Given the description of an element on the screen output the (x, y) to click on. 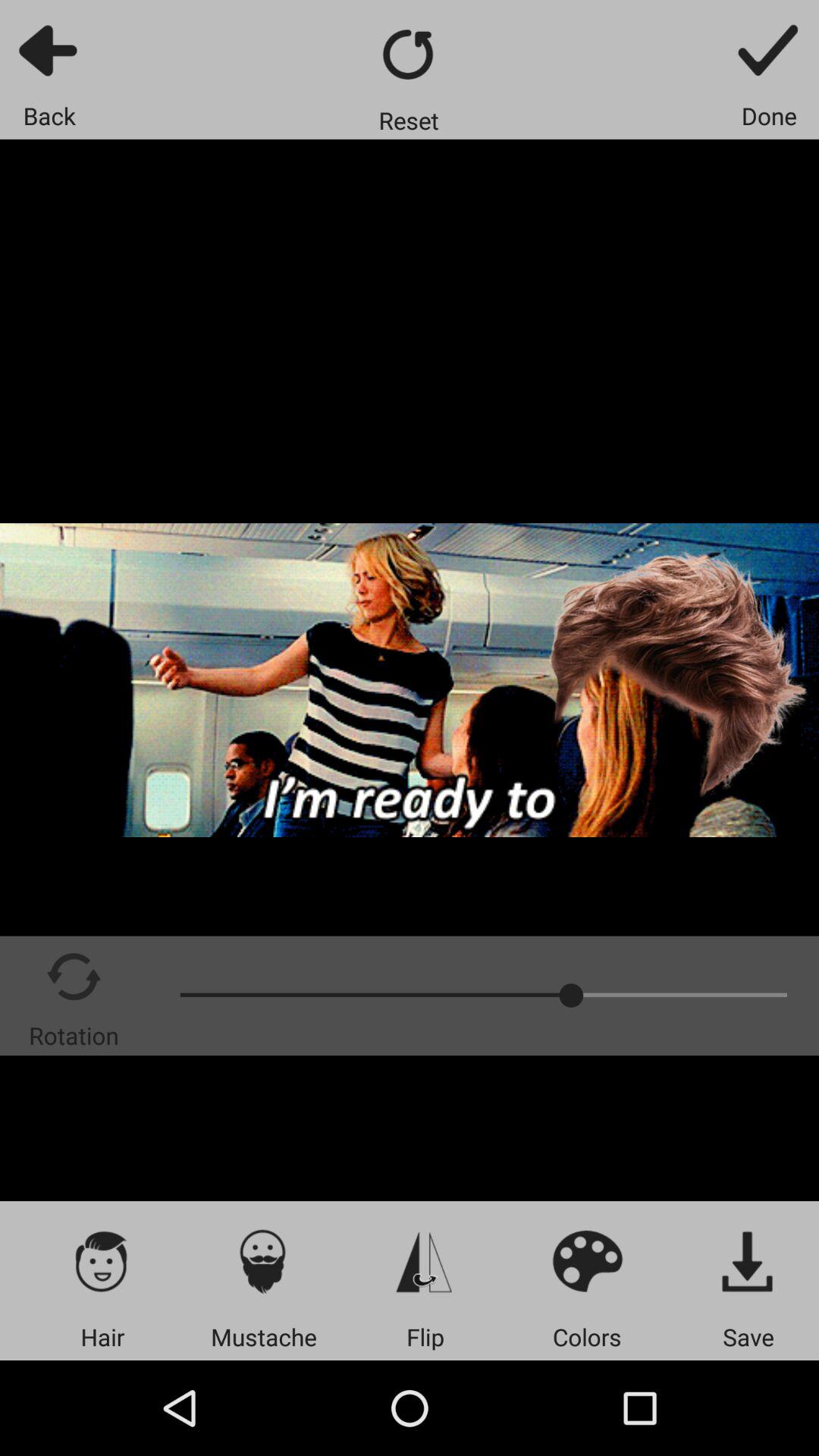
change color (586, 1260)
